Given the description of an element on the screen output the (x, y) to click on. 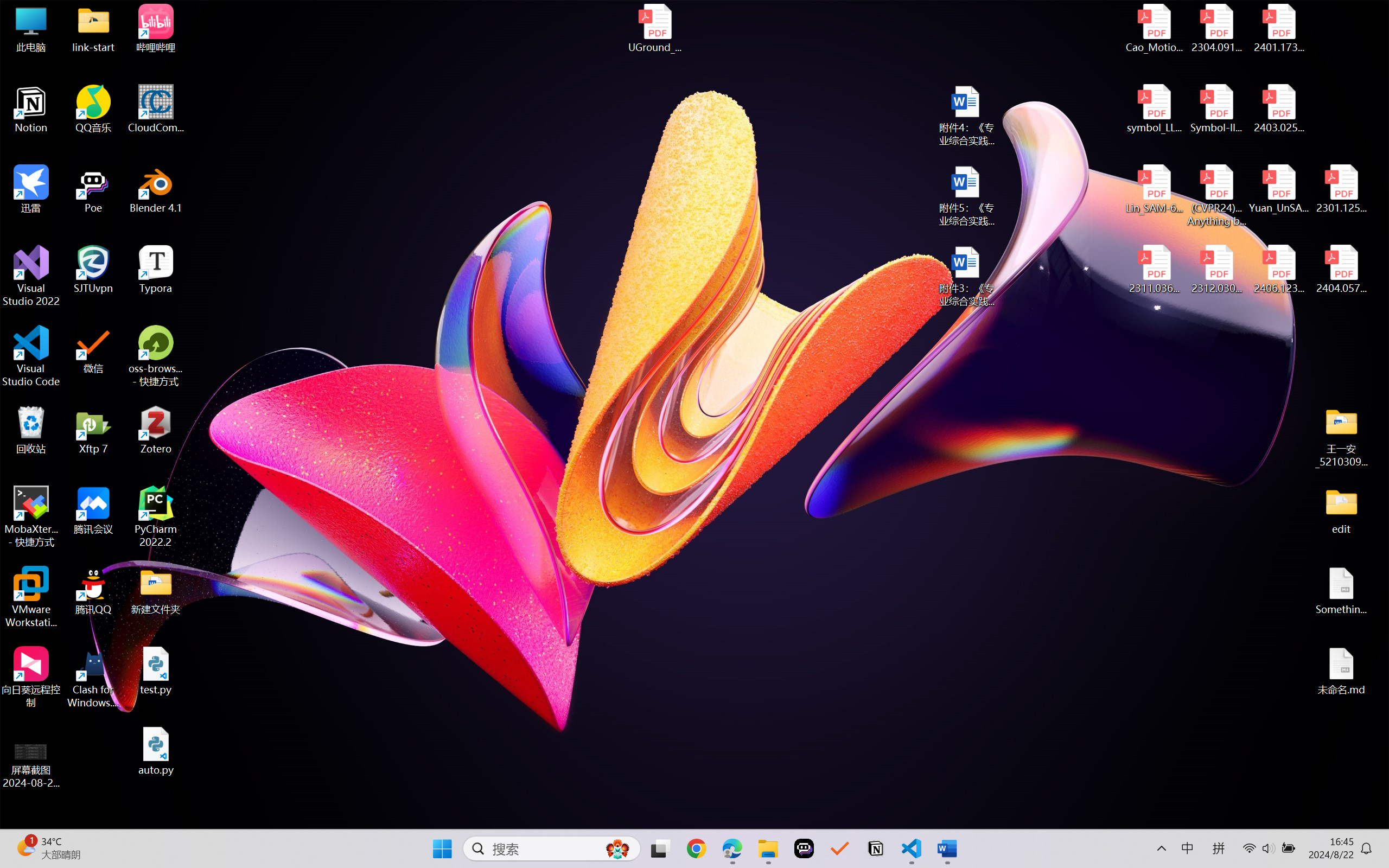
(CVPR24)Matching Anything by Segmenting Anything.pdf (1216, 195)
VMware Workstation Pro (31, 597)
Blender 4.1 (156, 189)
2401.17399v1.pdf (1278, 28)
2311.03658v2.pdf (1154, 269)
